Given the description of an element on the screen output the (x, y) to click on. 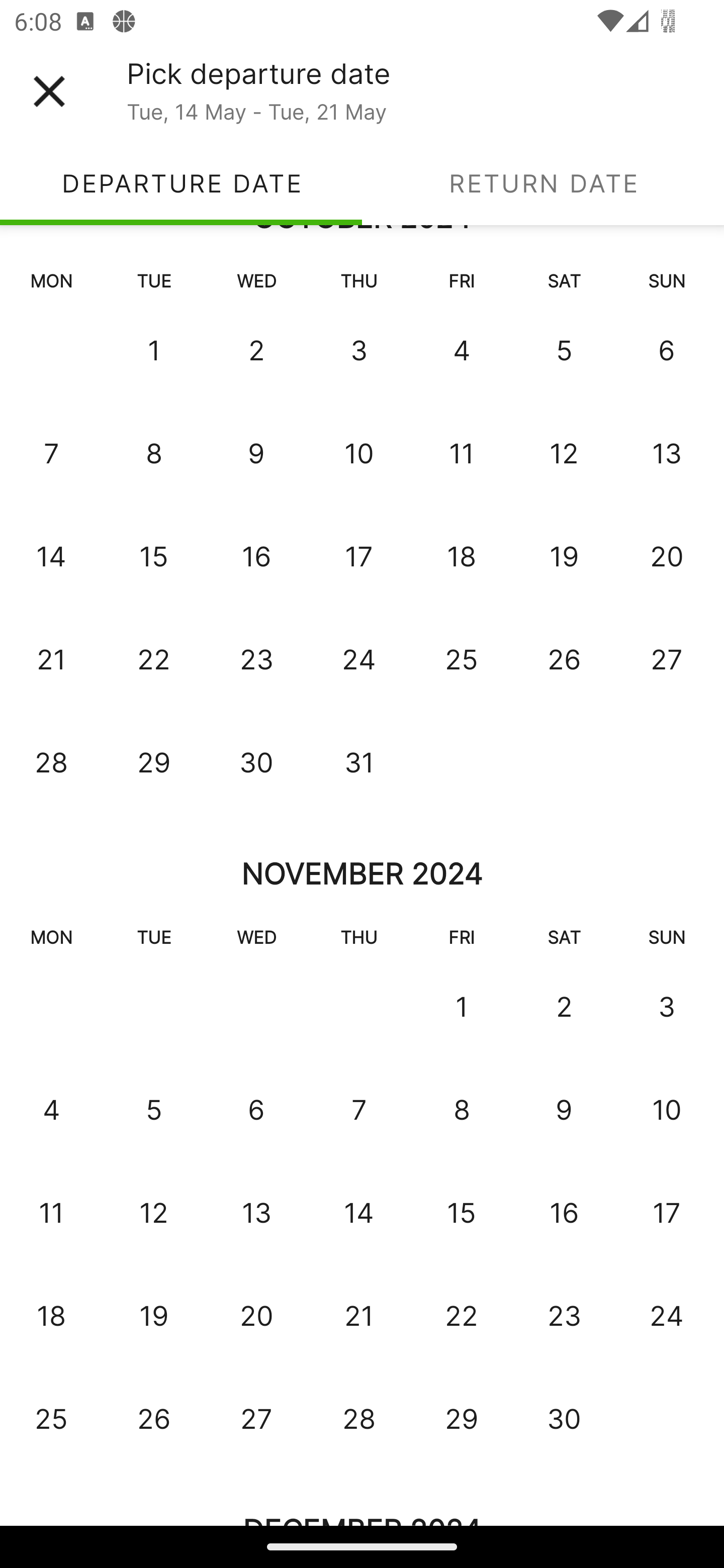
Return Date RETURN DATE (543, 183)
